Given the description of an element on the screen output the (x, y) to click on. 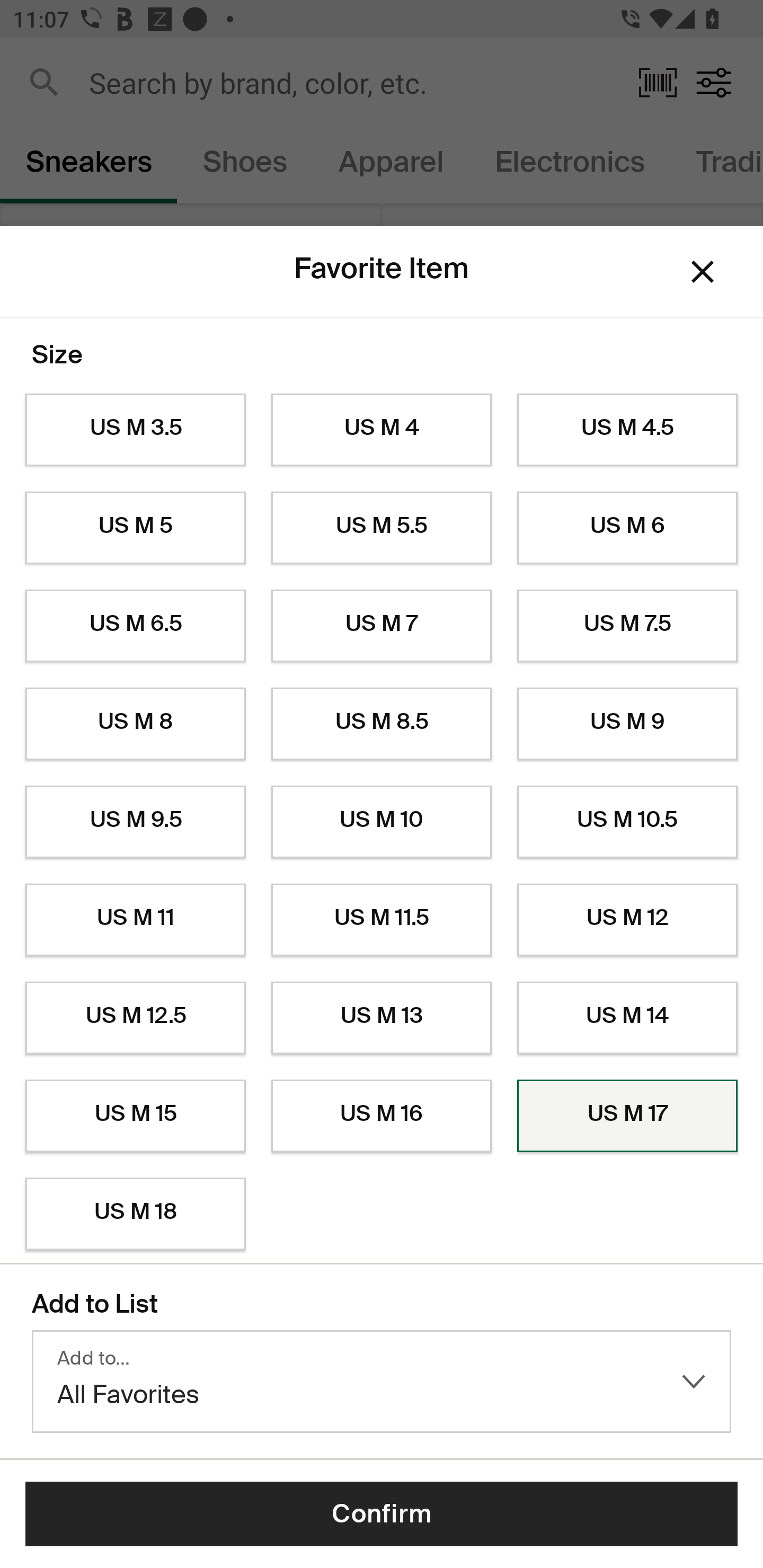
Dismiss (702, 271)
US M 3.5 (135, 430)
US M 4 (381, 430)
US M 4.5 (627, 430)
US M 5 (135, 527)
US M 5.5 (381, 527)
US M 6 (627, 527)
US M 6.5 (135, 626)
US M 7 (381, 626)
US M 7.5 (627, 626)
US M 8 (135, 724)
US M 8.5 (381, 724)
US M 9 (627, 724)
US M 9.5 (135, 822)
US M 10 (381, 822)
US M 10.5 (627, 822)
US M 11 (135, 919)
US M 11.5 (381, 919)
US M 12 (627, 919)
US M 12.5 (135, 1018)
US M 13 (381, 1018)
US M 14 (627, 1018)
US M 15 (135, 1116)
US M 16 (381, 1116)
US M 17 (627, 1116)
US M 18 (135, 1214)
Add to… All Favorites (381, 1381)
Confirm (381, 1513)
